Given the description of an element on the screen output the (x, y) to click on. 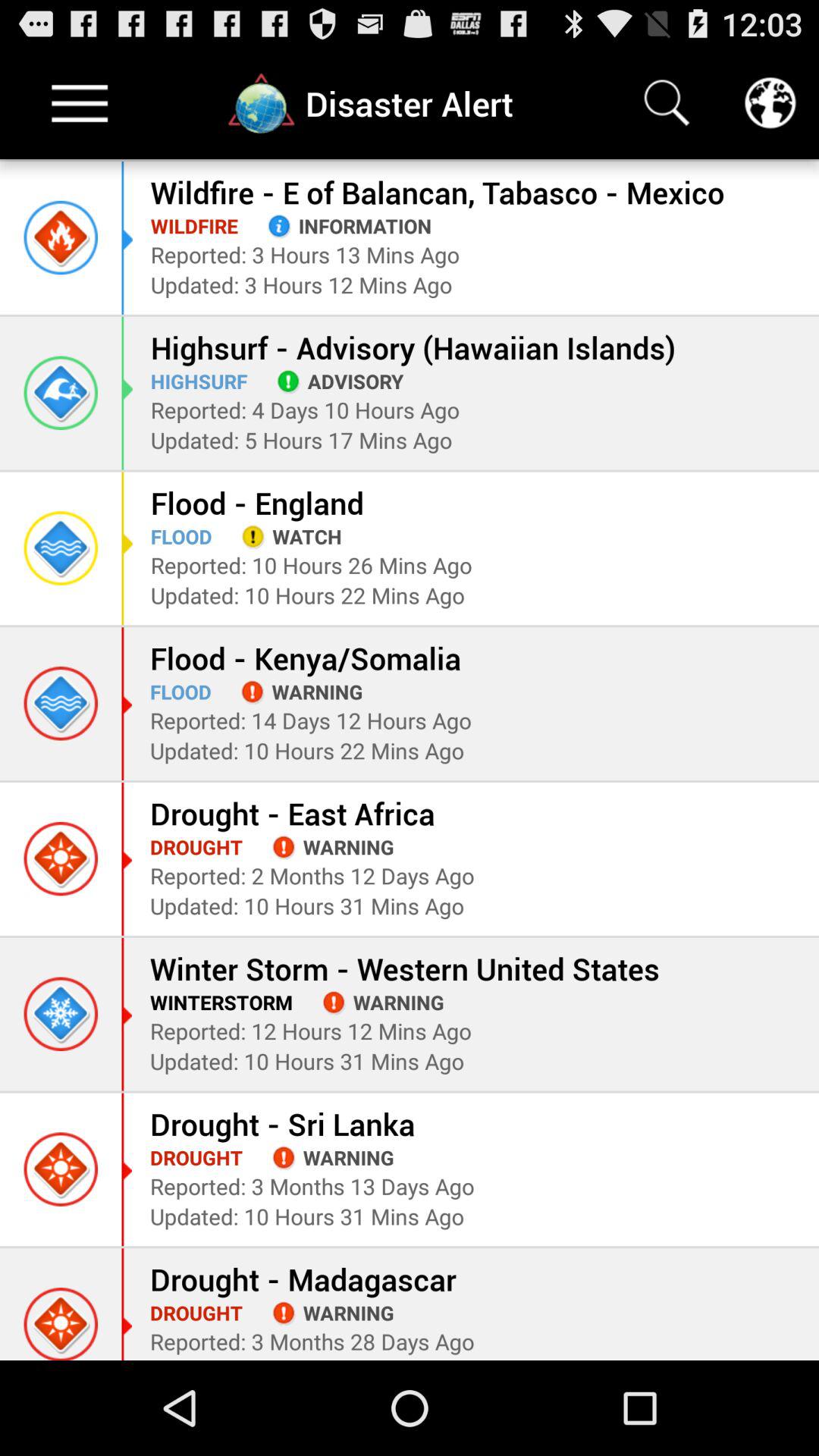
the globe button (770, 103)
